Given the description of an element on the screen output the (x, y) to click on. 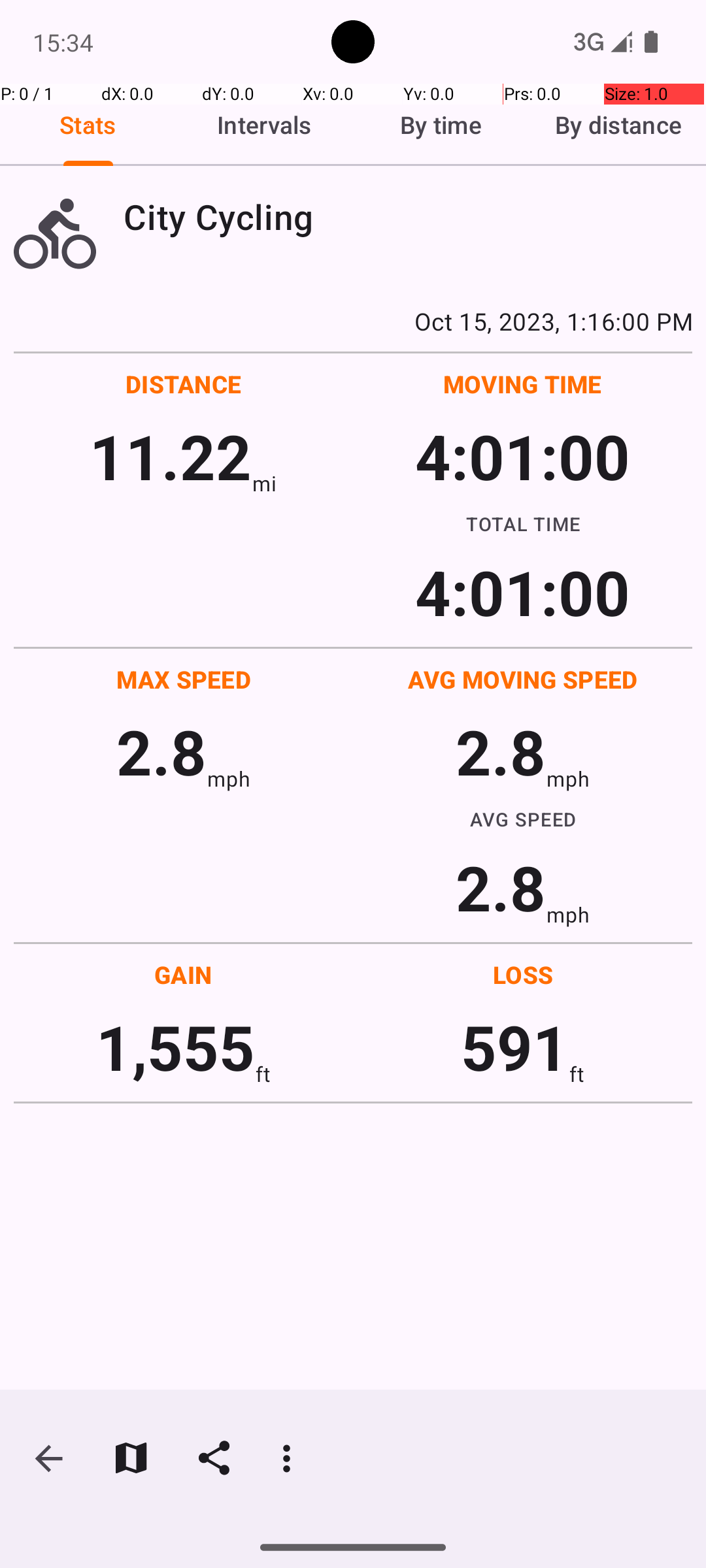
City Cycling Element type: android.widget.TextView (407, 216)
Oct 15, 2023, 1:16:00 PM Element type: android.widget.TextView (352, 320)
11.22 Element type: android.widget.TextView (170, 455)
4:01:00 Element type: android.widget.TextView (522, 455)
2.8 Element type: android.widget.TextView (161, 750)
1,555 Element type: android.widget.TextView (175, 1045)
591 Element type: android.widget.TextView (514, 1045)
